Given the description of an element on the screen output the (x, y) to click on. 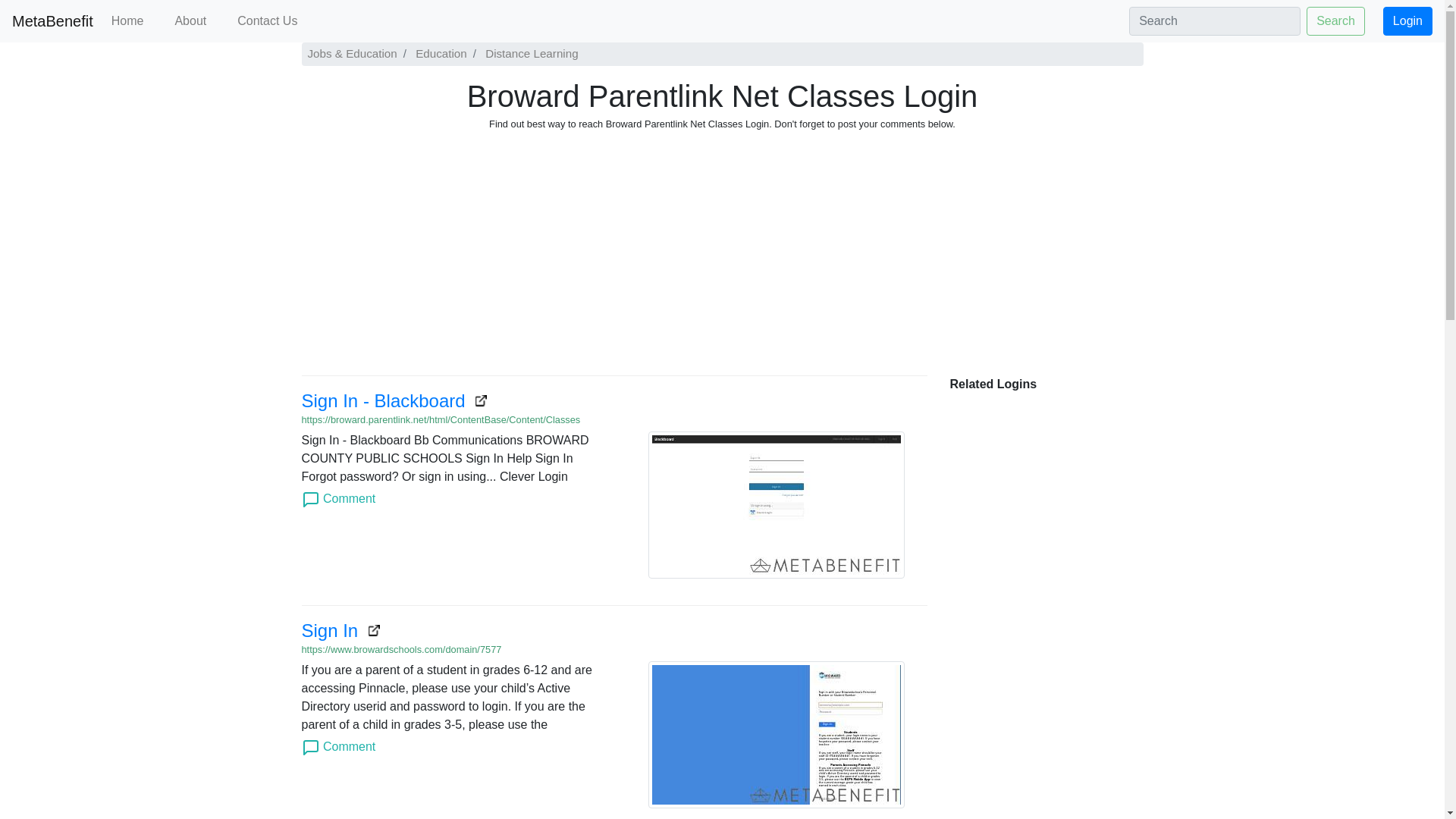
Home (126, 20)
Education (439, 52)
Contact Us (266, 20)
Search (1335, 21)
Login (1407, 21)
Sign In (340, 629)
Distance Learning (529, 52)
Sign In - Blackboard (394, 400)
MetaBenefit (52, 20)
